Given the description of an element on the screen output the (x, y) to click on. 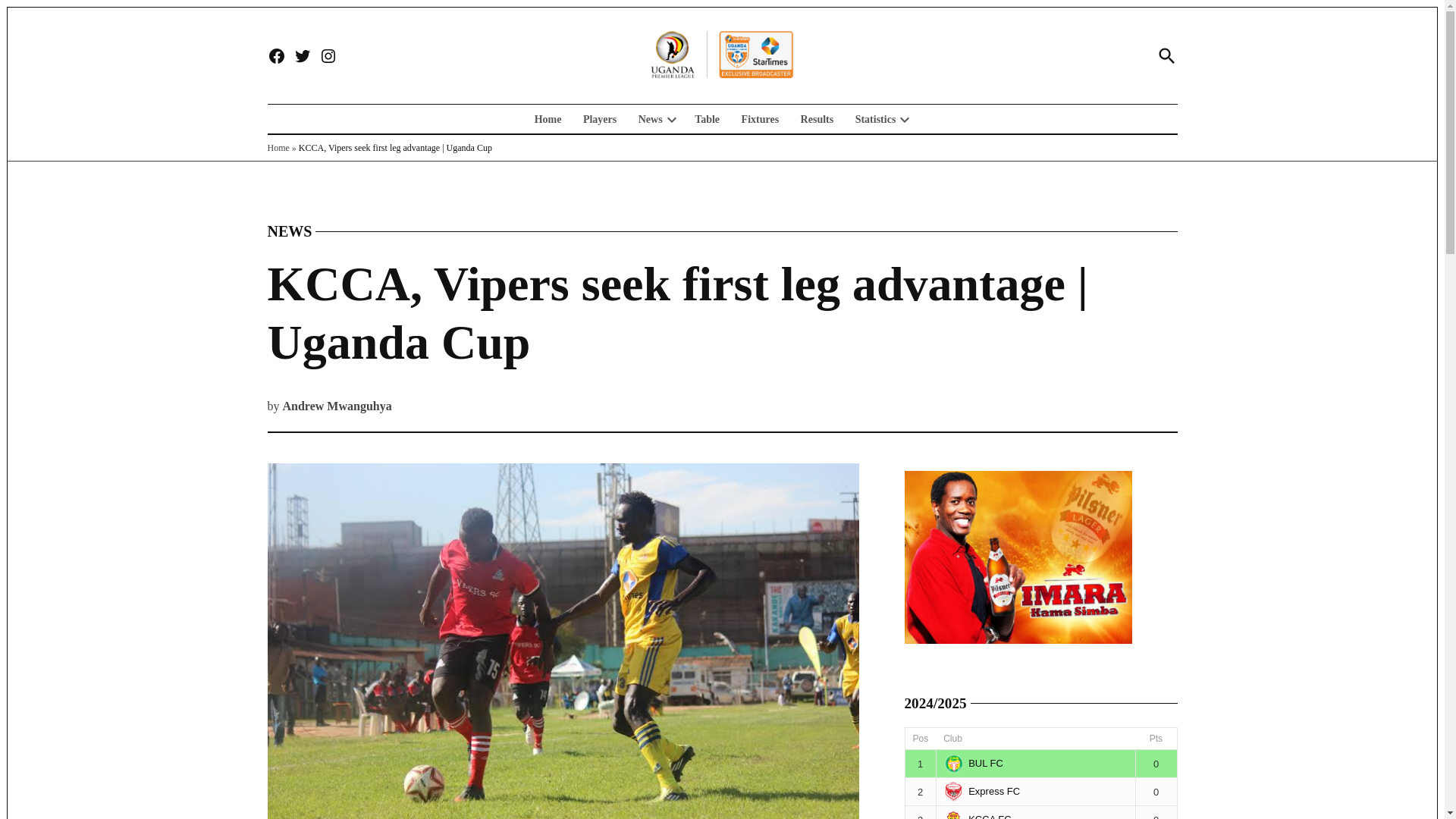
Players (599, 118)
News (646, 118)
Home (551, 118)
Facebook Page (275, 56)
Twitter (301, 56)
Instagram (327, 56)
